Given the description of an element on the screen output the (x, y) to click on. 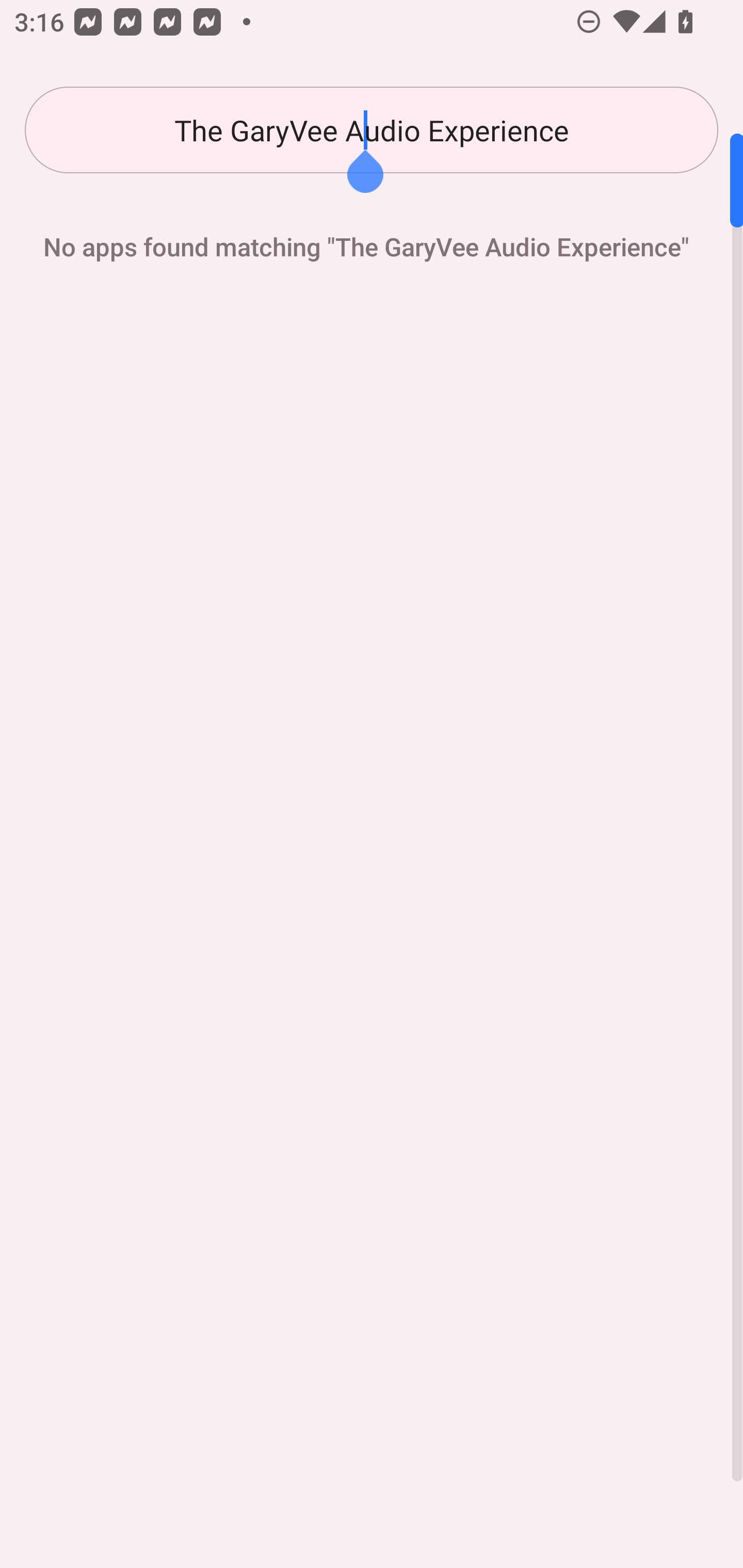
The GaryVee Audio Experience (371, 130)
